Given the description of an element on the screen output the (x, y) to click on. 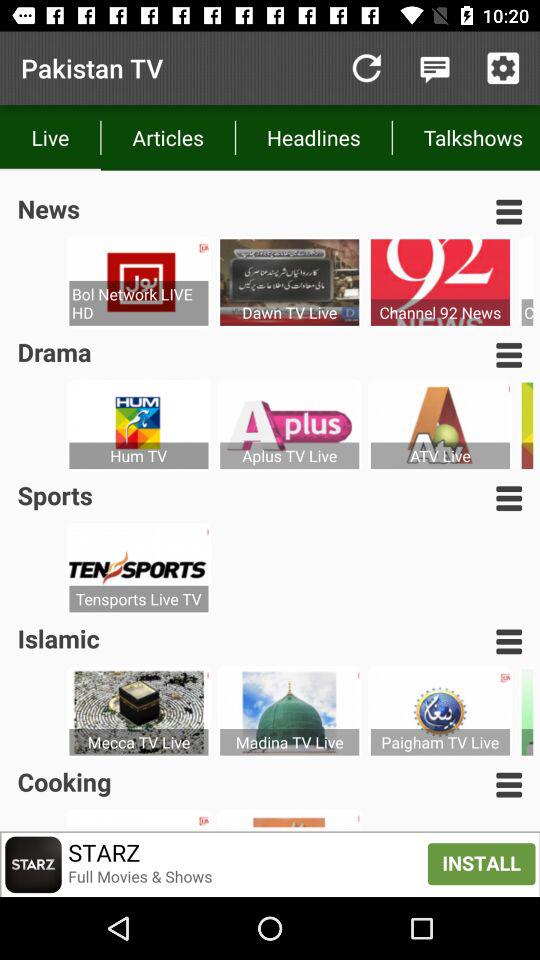
launch the icon next to headlines icon (466, 137)
